Given the description of an element on the screen output the (x, y) to click on. 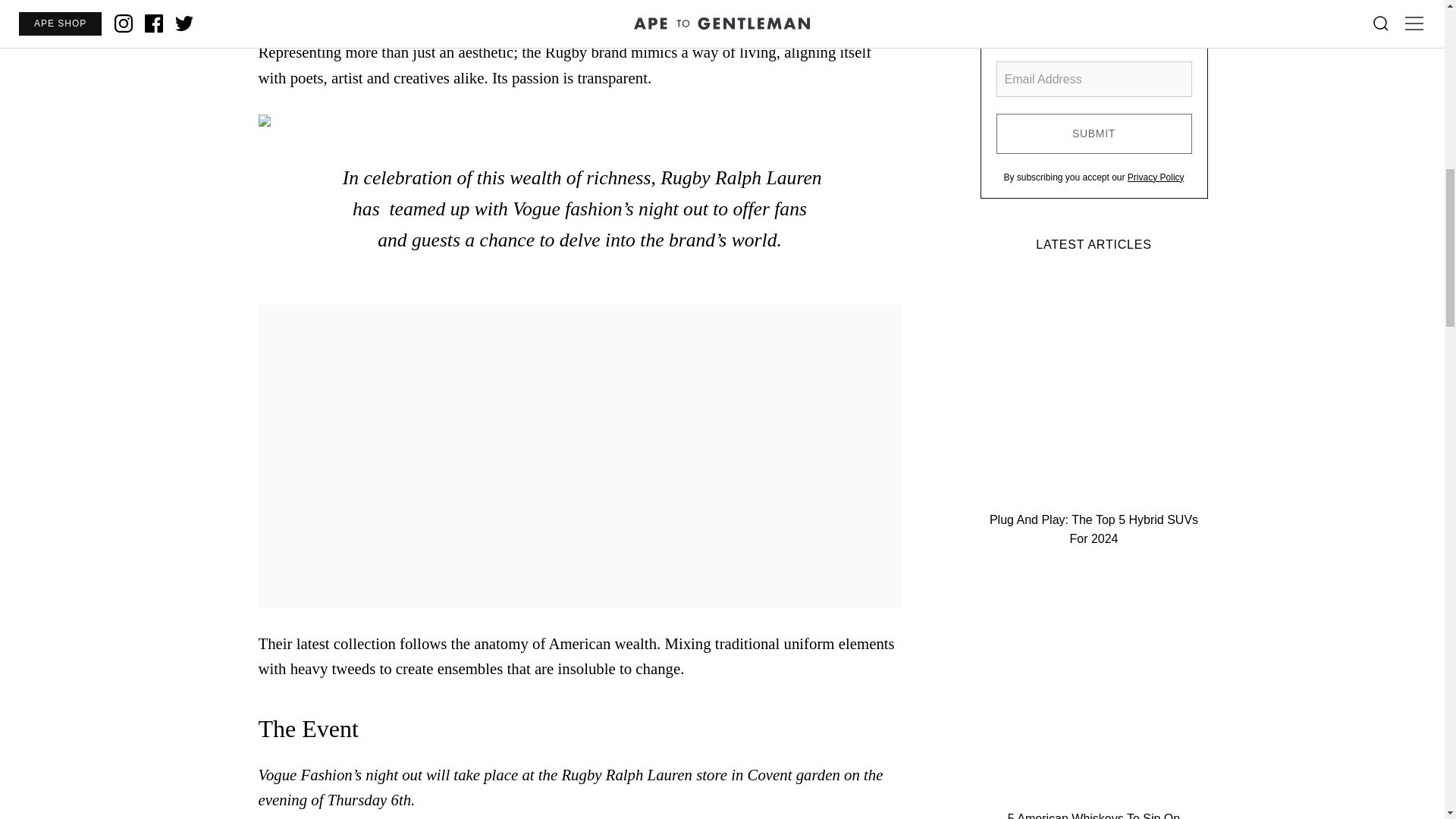
5 American Whiskeys To Sip On Independence Day 2024 (1093, 694)
Submit (1093, 133)
Submit (1093, 133)
Privacy Policy (1155, 176)
